Given the description of an element on the screen output the (x, y) to click on. 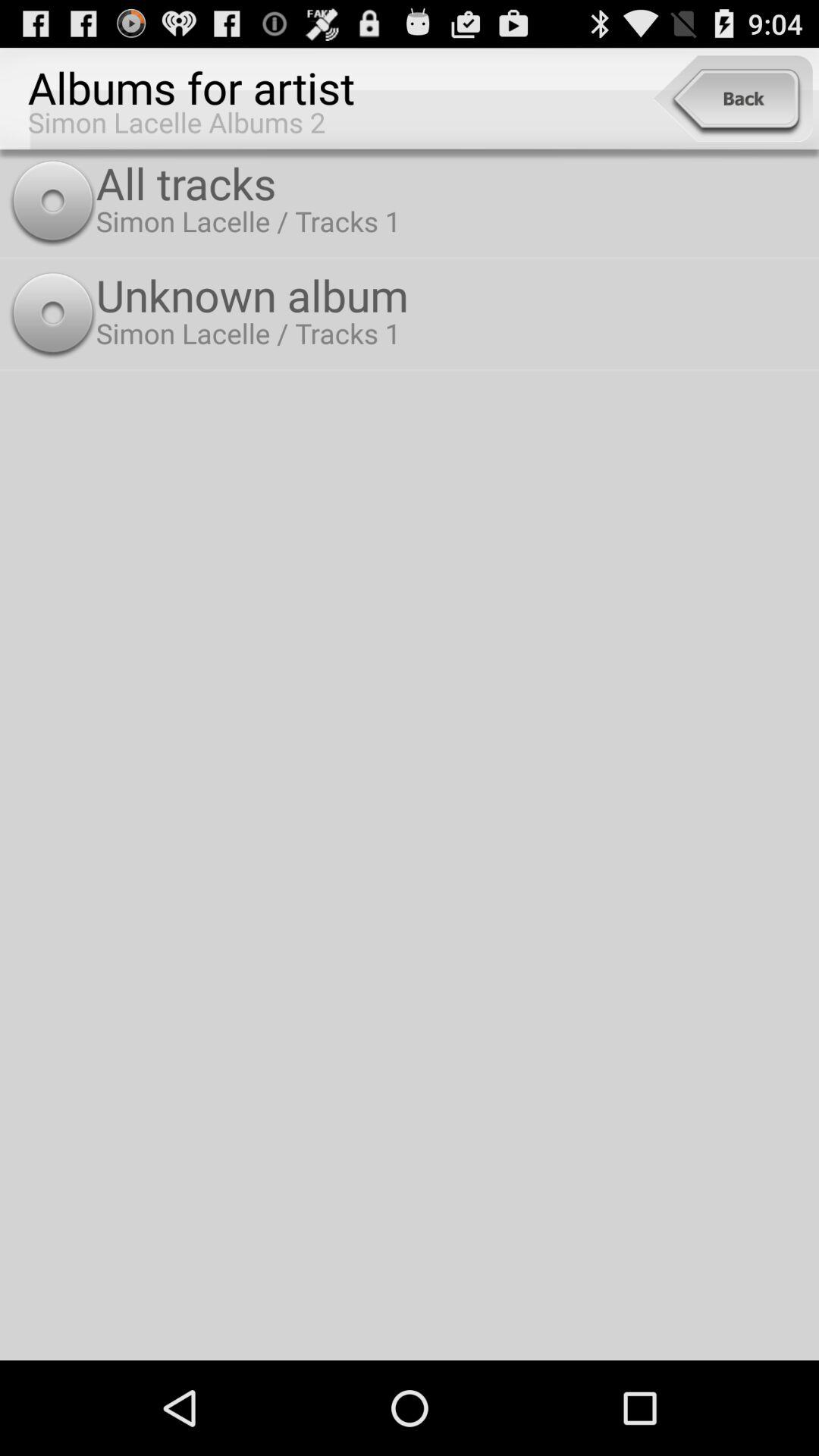
click unknown album item (454, 294)
